Given the description of an element on the screen output the (x, y) to click on. 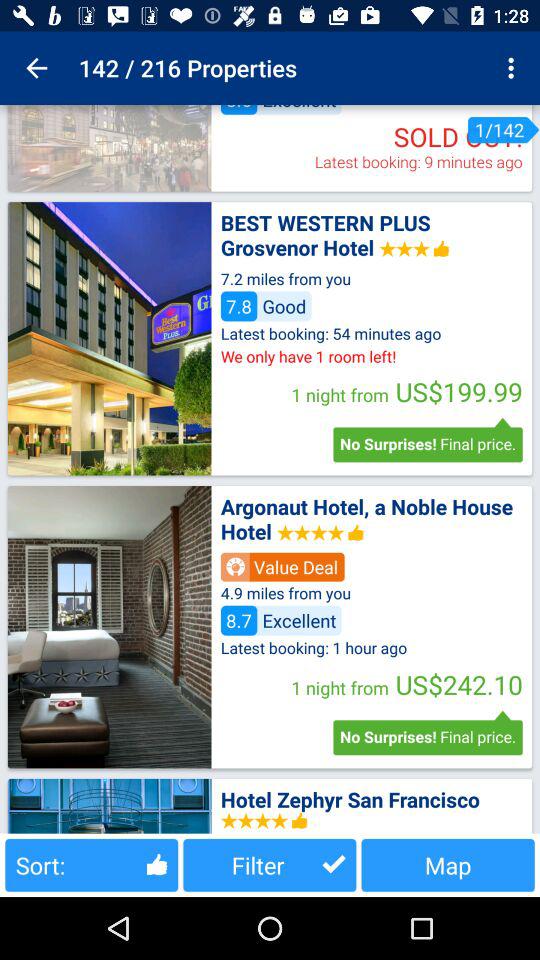
picture location (109, 148)
